Given the description of an element on the screen output the (x, y) to click on. 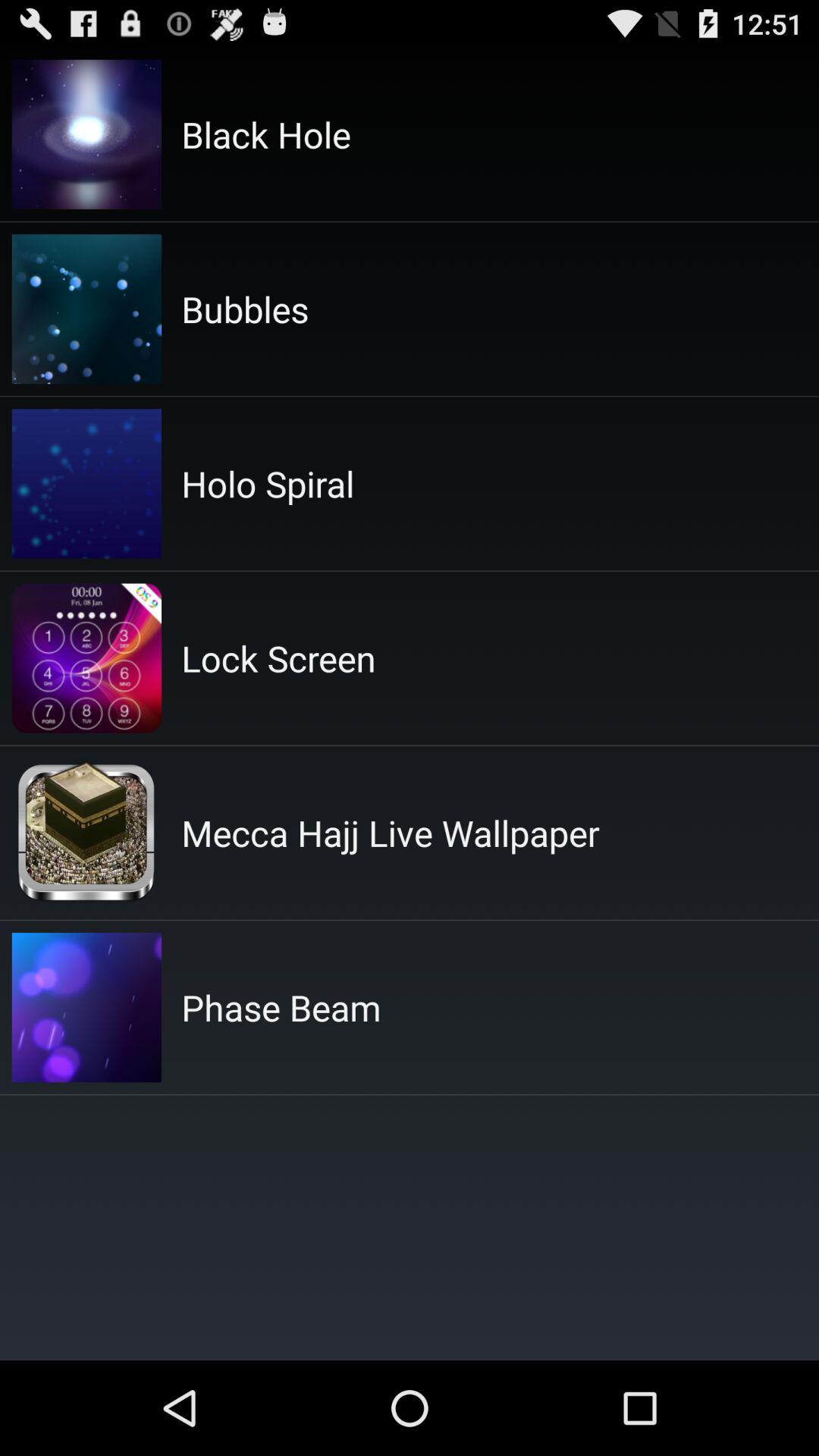
scroll to the lock screen (278, 658)
